Given the description of an element on the screen output the (x, y) to click on. 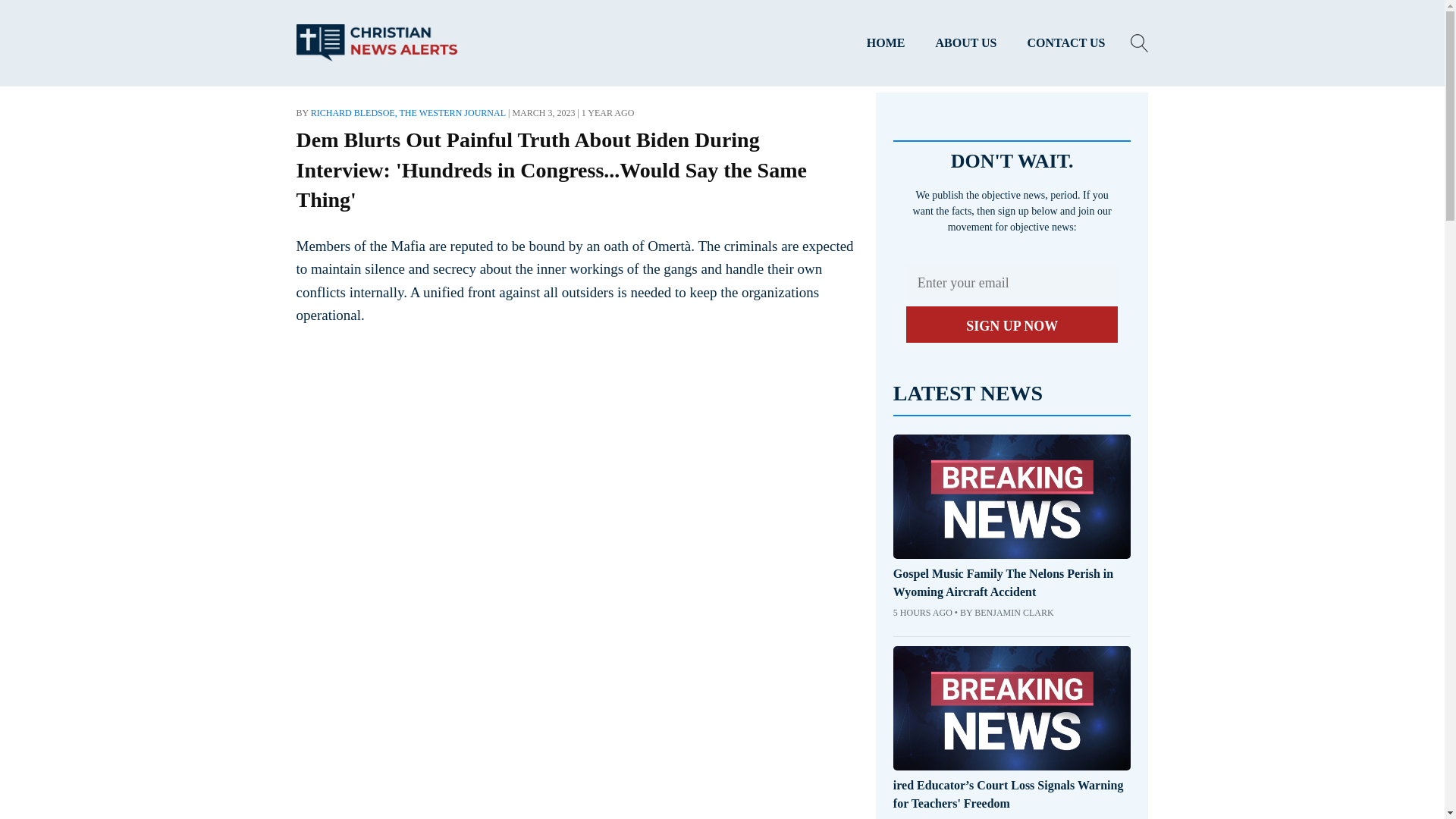
SIGN UP NOW (1011, 324)
ABOUT US (965, 43)
CONTACT US (1066, 43)
SIGN UP NOW (1011, 324)
RICHARD BLEDSOE, THE WESTERN JOURNAL (408, 112)
